Given the description of an element on the screen output the (x, y) to click on. 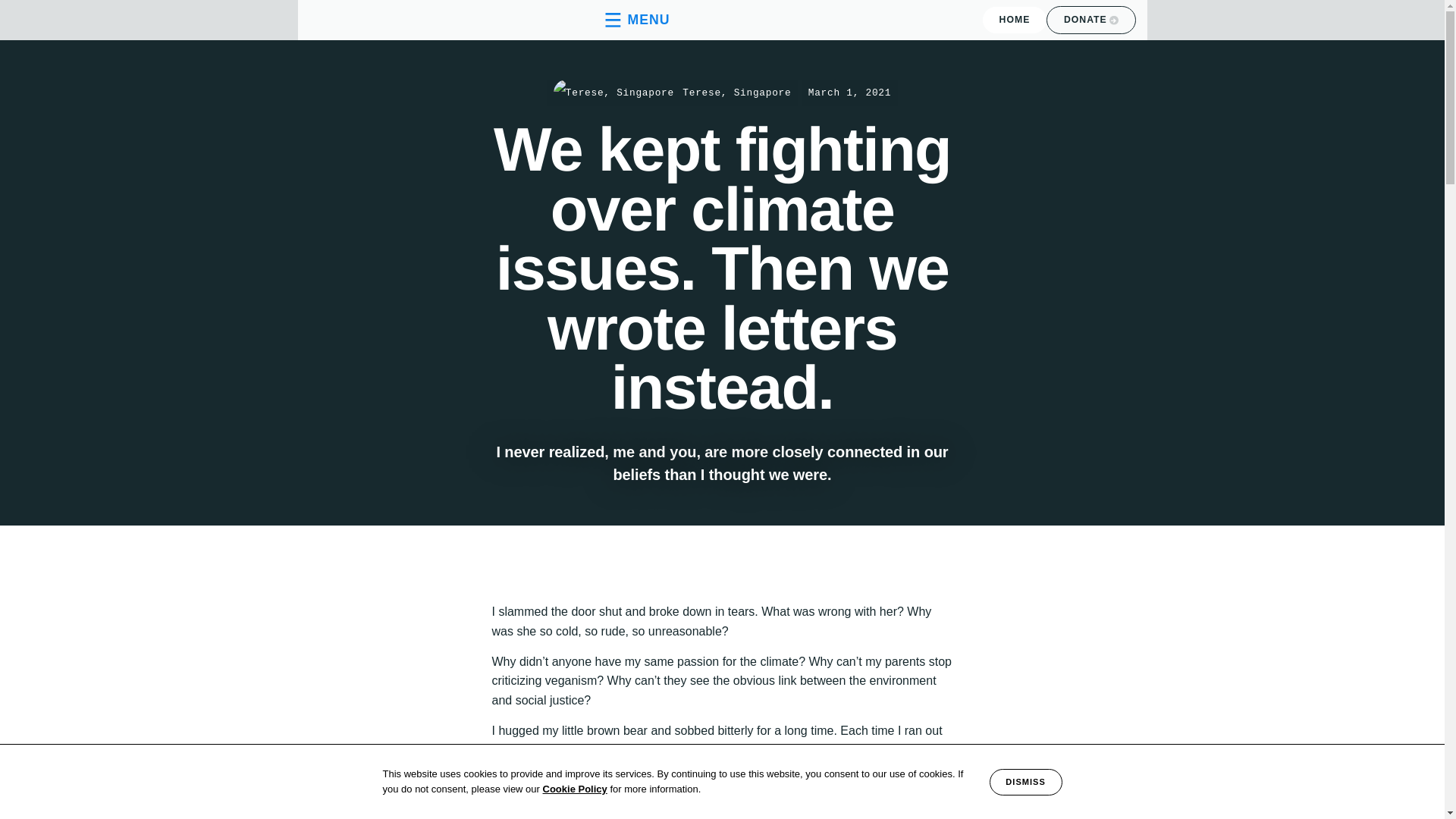
MENU (633, 20)
DONATE (1090, 19)
Cookie Policy (575, 788)
DISMISS (1026, 782)
HOME (1014, 19)
